Given the description of an element on the screen output the (x, y) to click on. 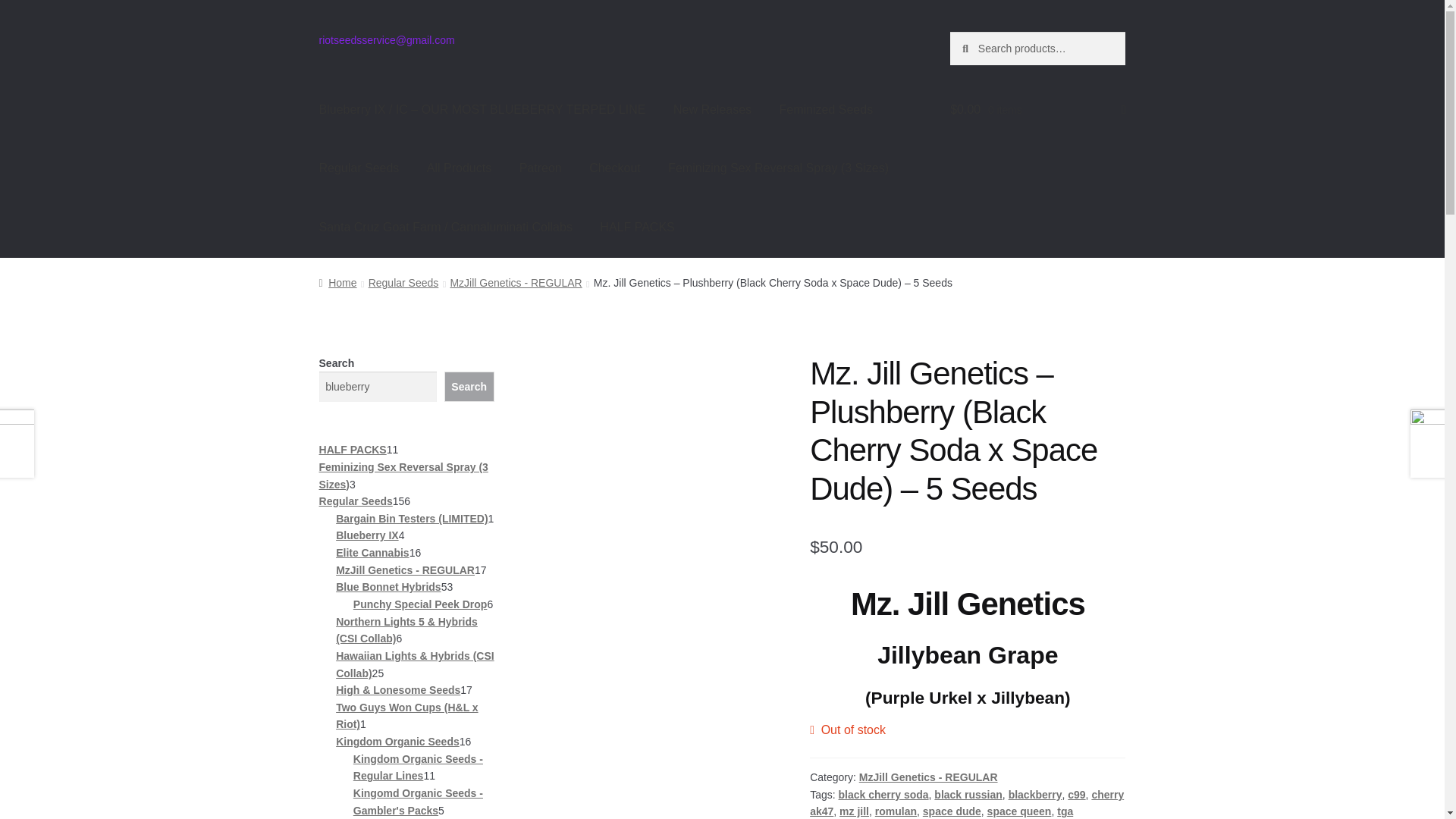
space queen (1019, 811)
blackberry (1035, 794)
black cherry soda (883, 794)
Feminized Seeds (826, 109)
All Products (458, 168)
Checkout (614, 168)
MzJill Genetics - REGULAR (514, 282)
Home (337, 282)
black russian (968, 794)
space dude (952, 811)
